Given the description of an element on the screen output the (x, y) to click on. 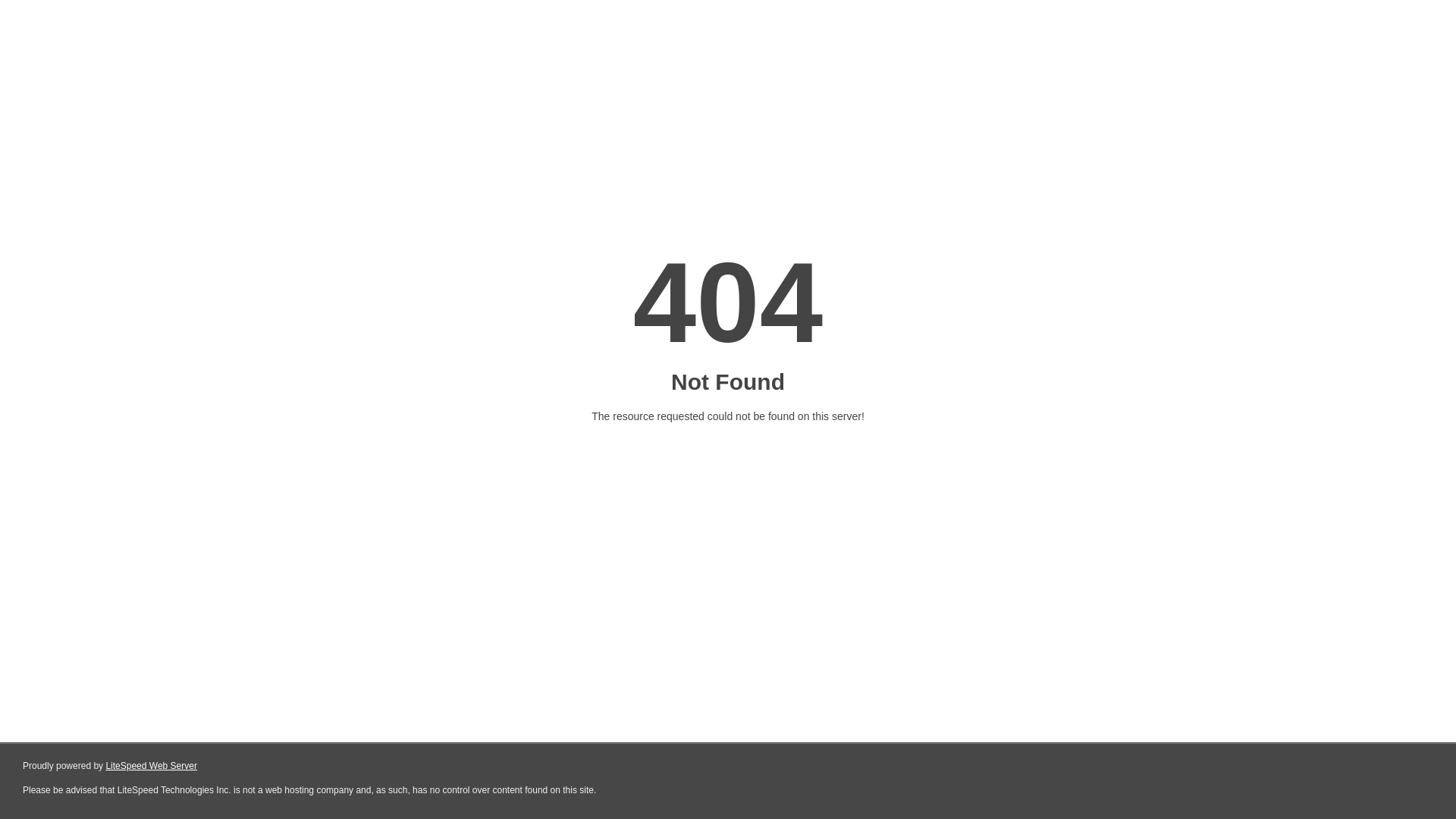
LiteSpeed Web Server Element type: text (151, 765)
